Given the description of an element on the screen output the (x, y) to click on. 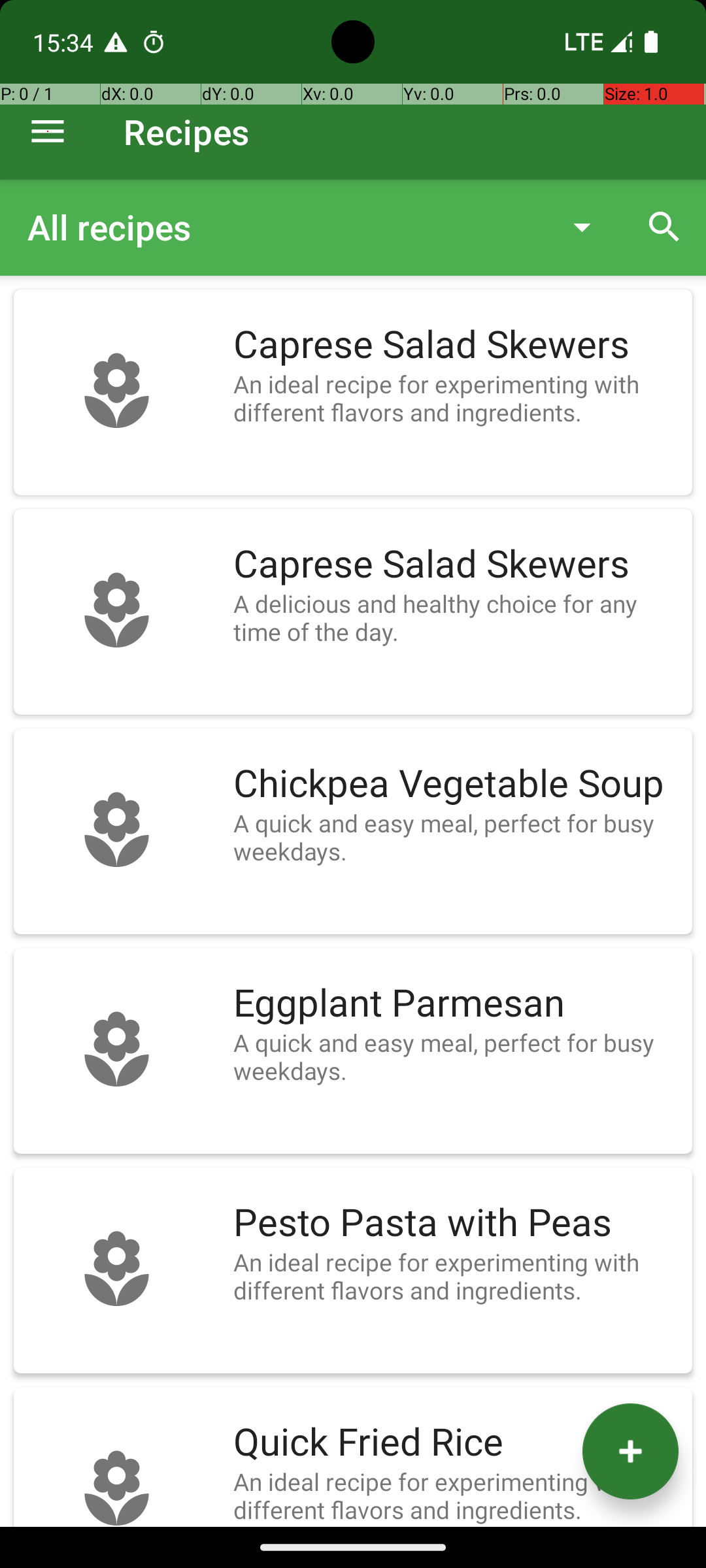
Chickpea Vegetable Soup Element type: android.widget.TextView (455, 783)
Eggplant Parmesan Element type: android.widget.TextView (455, 1003)
Pesto Pasta with Peas Element type: android.widget.TextView (455, 1222)
Quick Fried Rice Element type: android.widget.TextView (455, 1442)
